Given the description of an element on the screen output the (x, y) to click on. 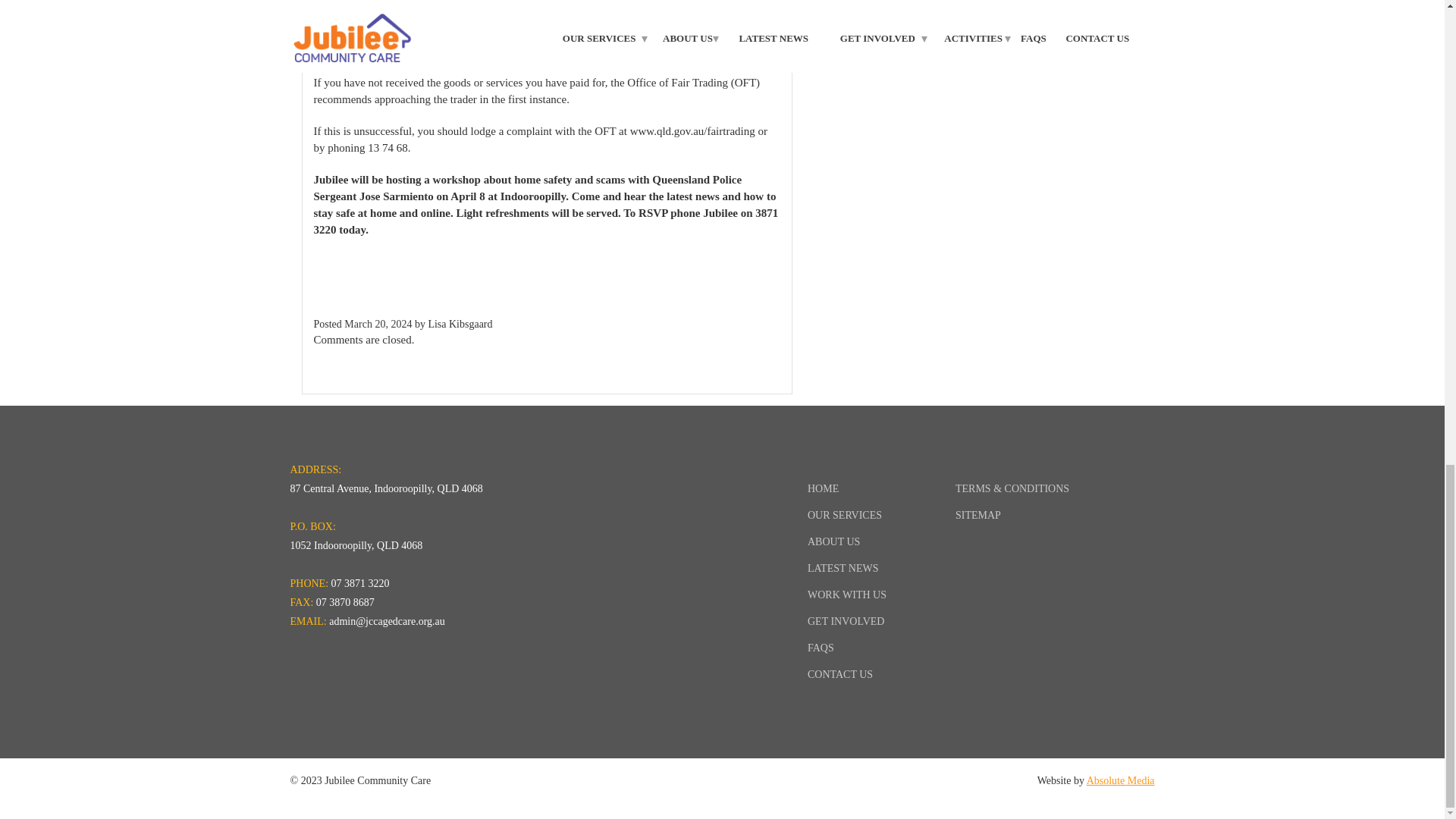
March 20, 2024 (377, 323)
12:04 pm (377, 323)
Website design Brisbane (1120, 780)
